Given the description of an element on the screen output the (x, y) to click on. 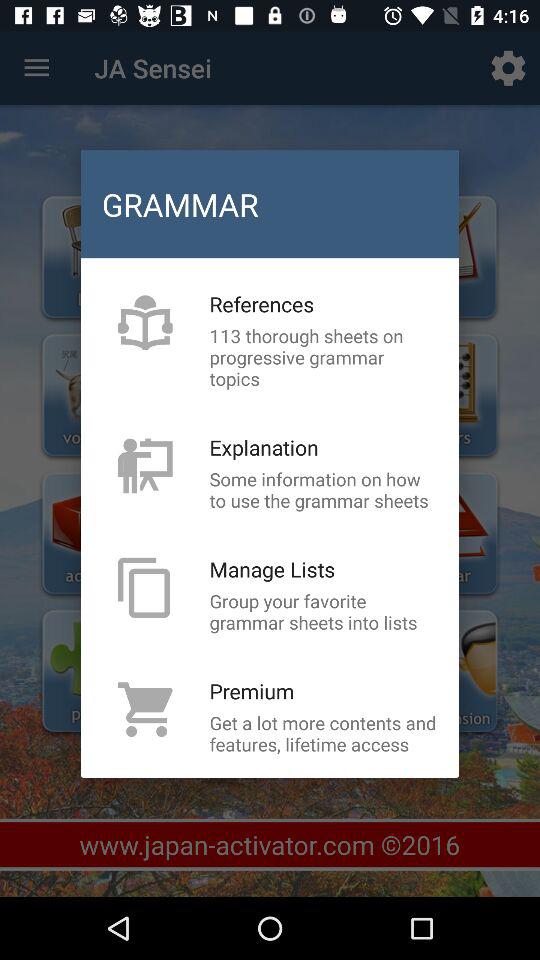
click item above the group your favorite (272, 569)
